Given the description of an element on the screen output the (x, y) to click on. 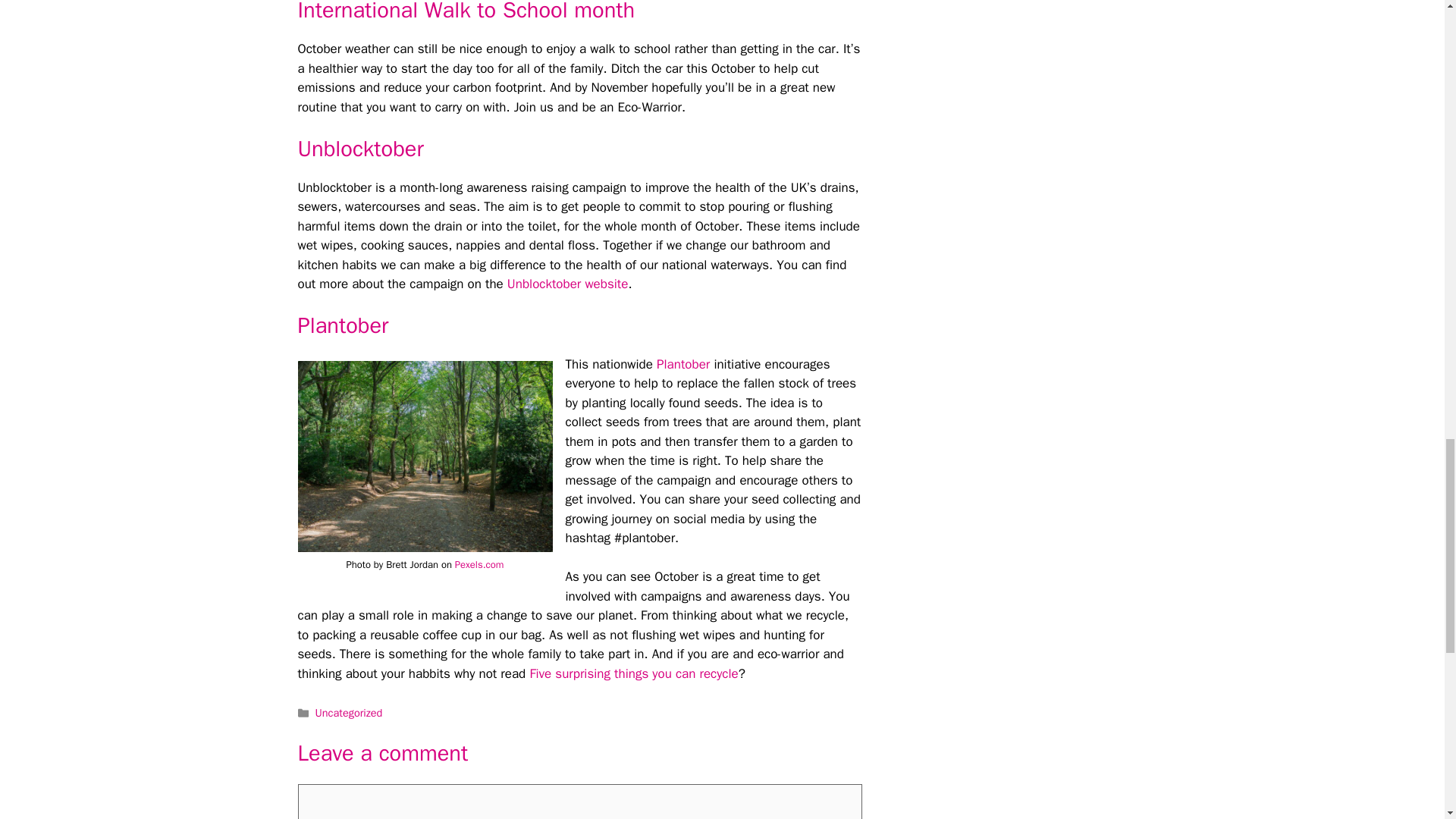
Pexels.com (478, 563)
Unblocktober website (567, 283)
Five surprising things you can recycle (633, 673)
Plantober (684, 364)
Uncategorized (348, 712)
